Given the description of an element on the screen output the (x, y) to click on. 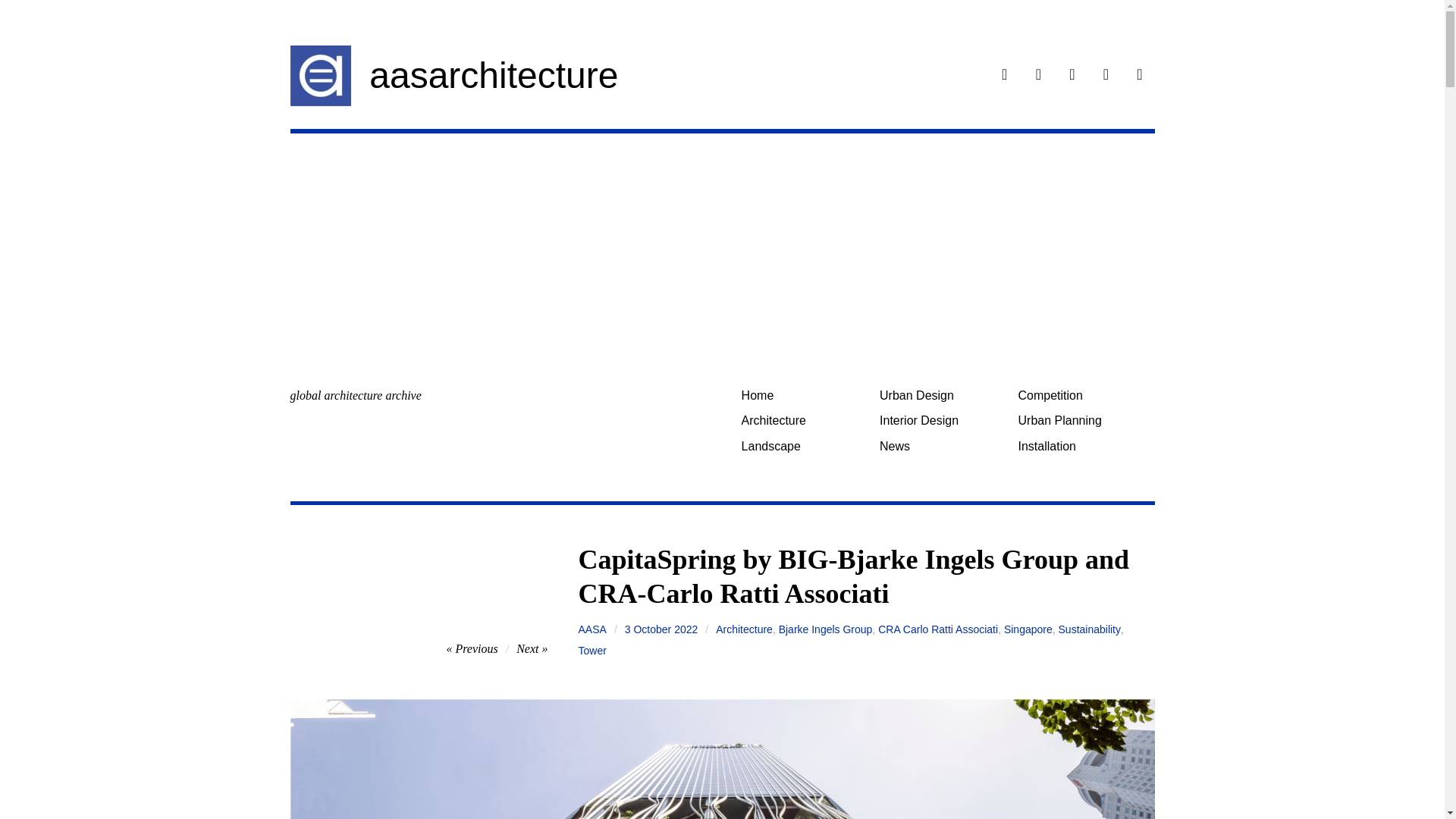
Next (531, 648)
Singapore (1028, 629)
Bjarke Ingels Group (825, 629)
Landscape (804, 445)
News (942, 445)
CRA Carlo Ratti Associati (937, 629)
Instagram (1038, 75)
AASA (592, 629)
Competition (1080, 395)
Tower (592, 649)
Fadebook (1003, 75)
aasarchitecture (493, 75)
Home (804, 395)
Architecture (744, 629)
